Given the description of an element on the screen output the (x, y) to click on. 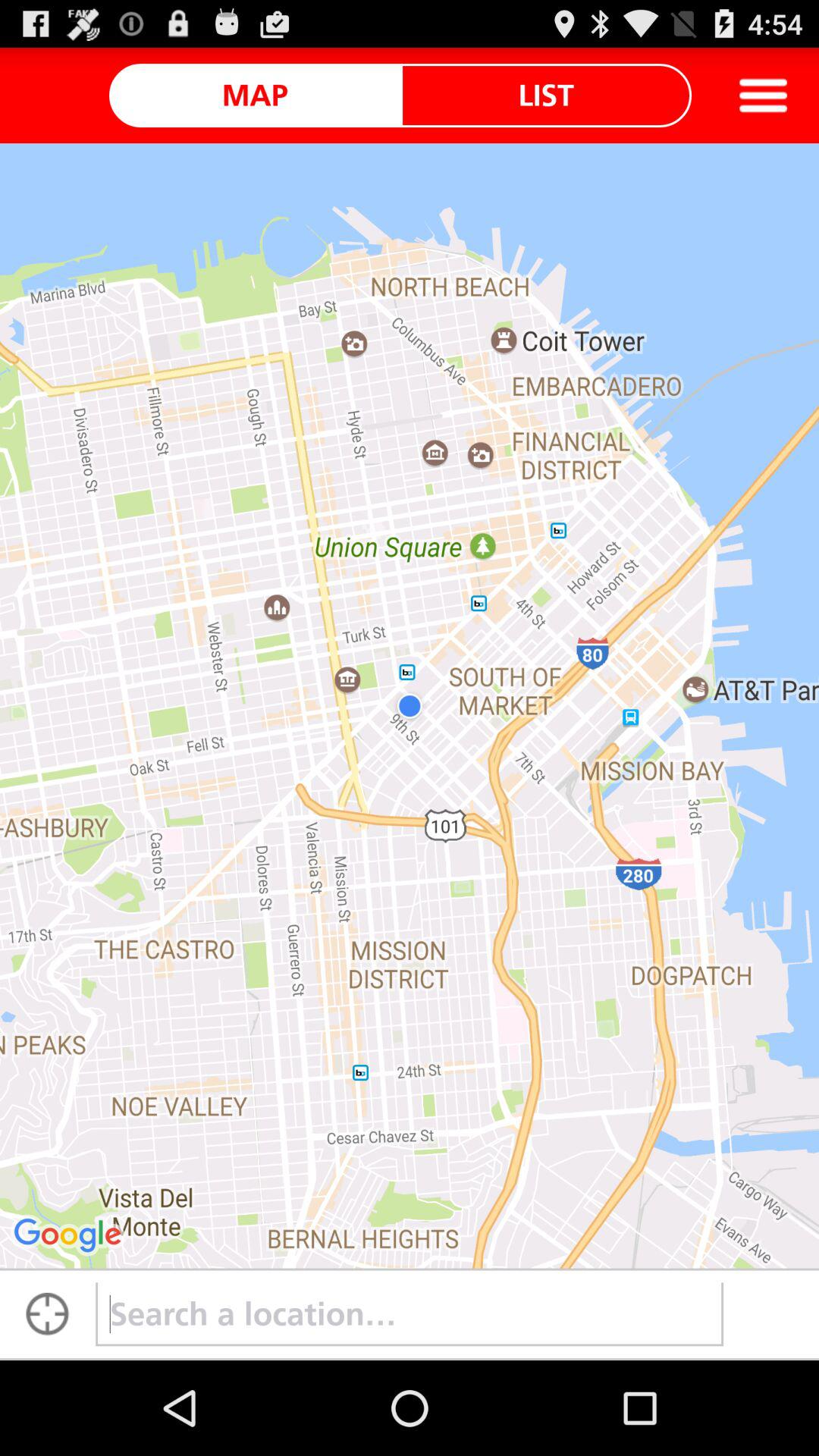
flip to list (545, 95)
